Given the description of an element on the screen output the (x, y) to click on. 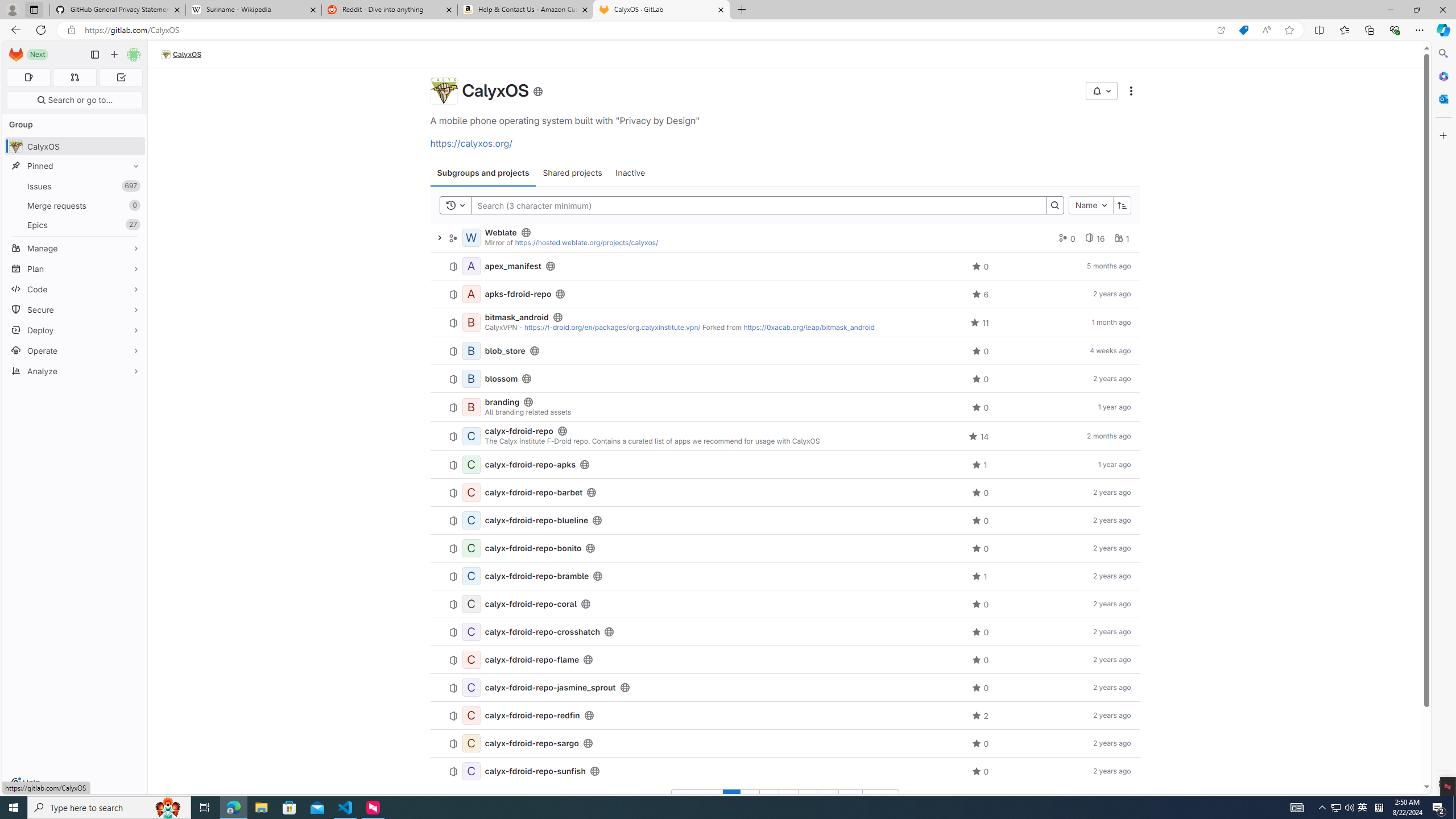
calyx-fdroid-repo-crosshatch (541, 631)
Go to last page (850, 799)
https://hosted.weblate.org/projects/calyxos/ (586, 242)
Ccalyx-fdroid-repo-barbet02 years ago (784, 492)
Epics 27 (74, 224)
GitHub General Privacy Statement - GitHub Docs (117, 9)
Secure (74, 309)
Code (74, 289)
calyx-fdroid-repo-coral (530, 603)
Ccalyx-fdroid-repo-coral02 years ago (784, 604)
